Given the description of an element on the screen output the (x, y) to click on. 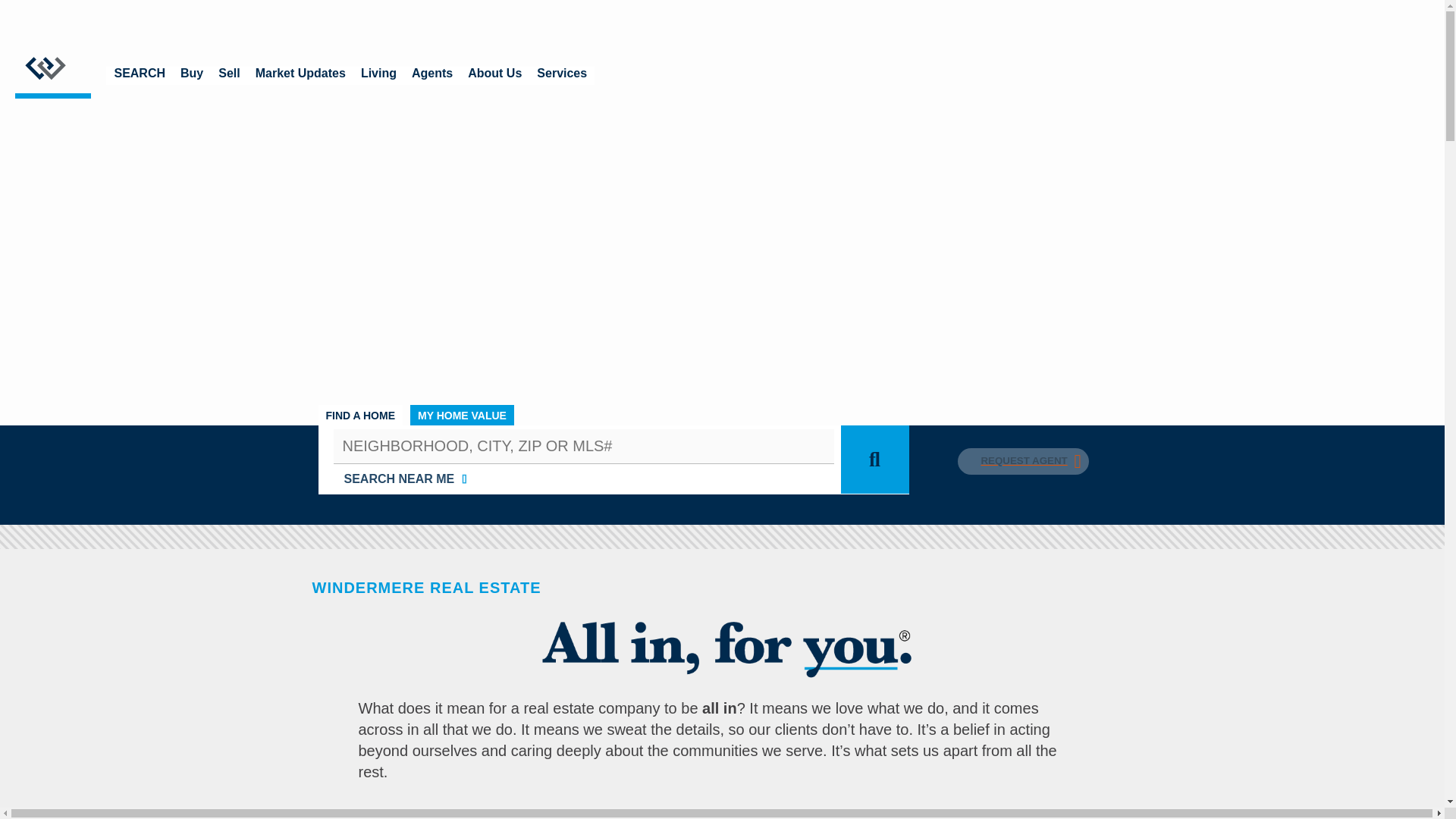
Services (561, 75)
Agents (432, 75)
SEARCH (139, 75)
FIND A HOME (360, 414)
REQUEST AGENT (1022, 461)
REQUEST AGENT (1022, 459)
w-angle-pattern-bar-desktop-dark (722, 536)
aify graphic (721, 643)
Sell (229, 75)
MY HOME VALUE (461, 414)
Market Updates (300, 75)
Living (378, 75)
About Us (494, 75)
Buy (192, 75)
